Given the description of an element on the screen output the (x, y) to click on. 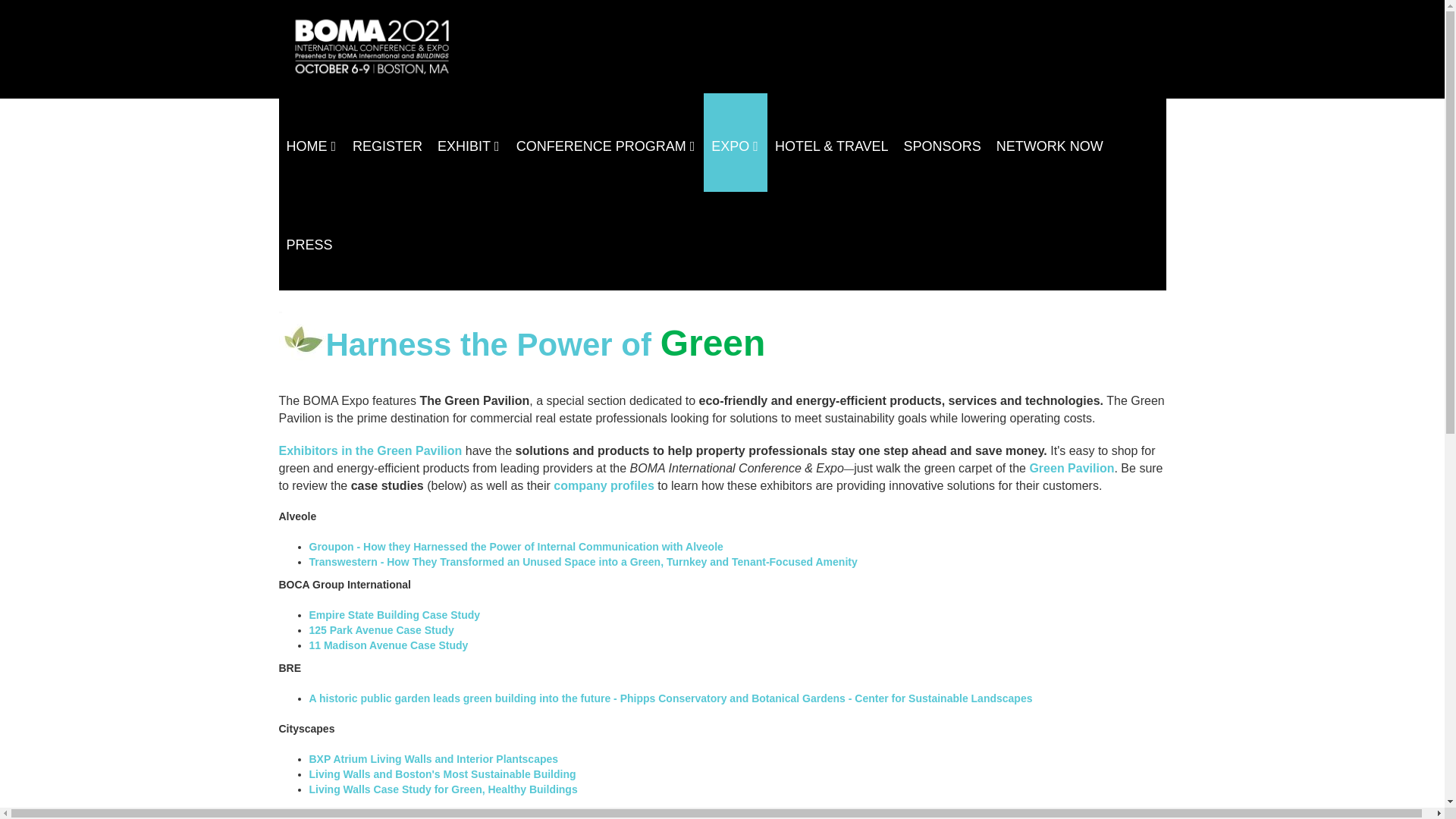
EXHIBIT (468, 128)
HOME (312, 128)
CONFERENCE PROGRAM (606, 128)
REGISTER (387, 128)
